Given the description of an element on the screen output the (x, y) to click on. 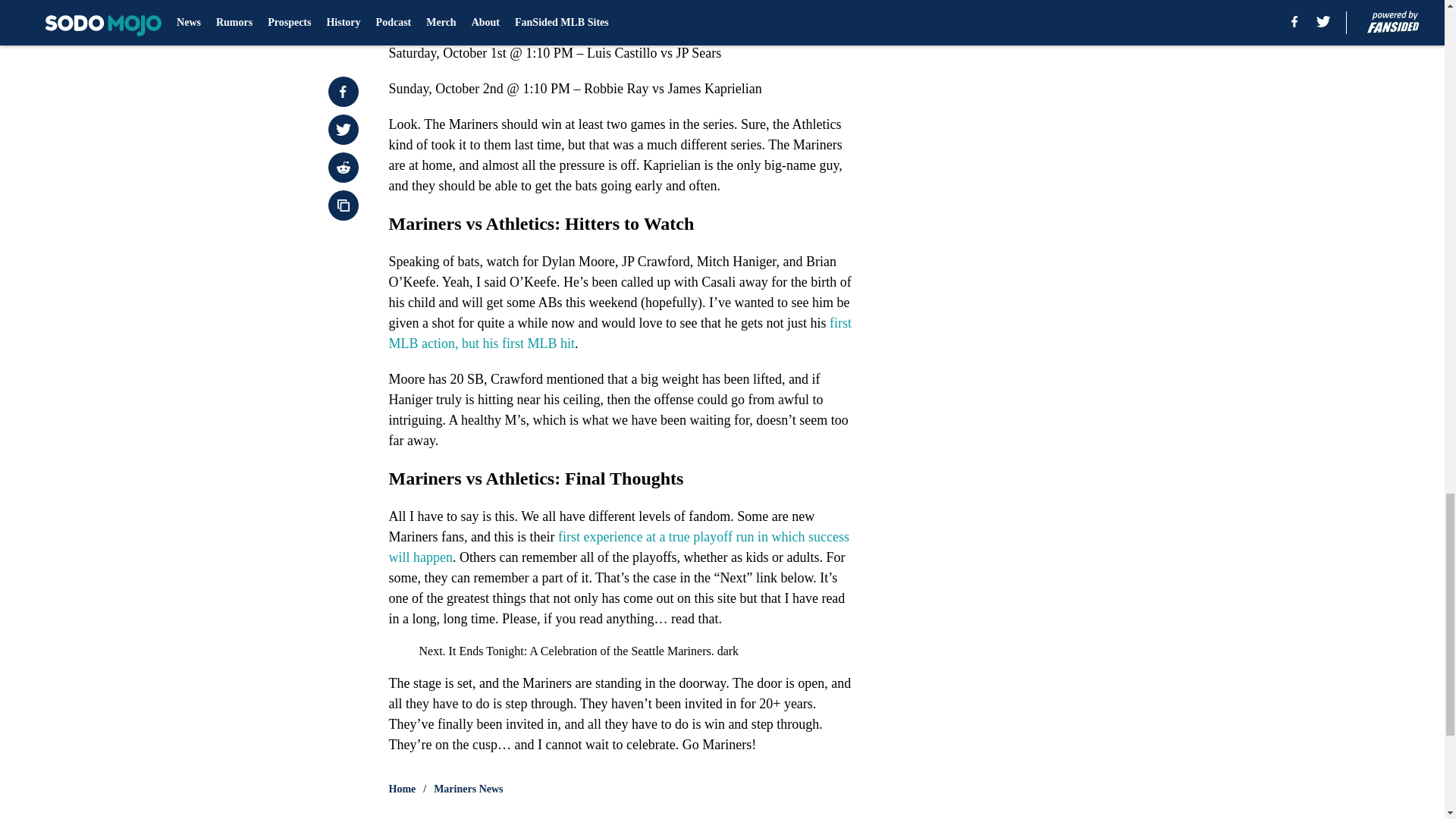
Mariners News (467, 789)
Home (401, 789)
first MLB action, but his first MLB hit (619, 333)
